Given the description of an element on the screen output the (x, y) to click on. 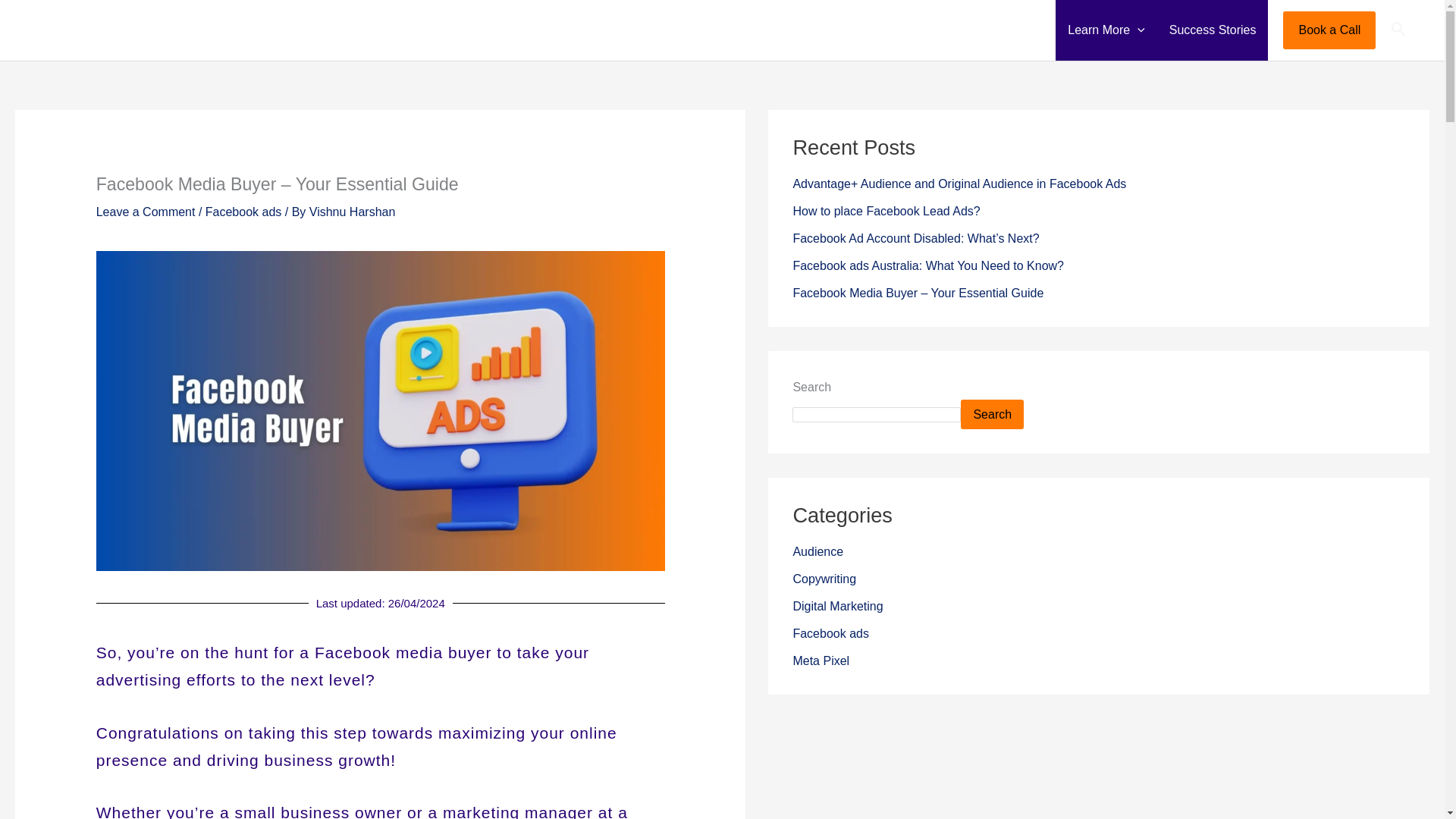
Vishnu Harshan (352, 211)
Book a Call (1328, 30)
Facebook ads (243, 211)
Learn More (1105, 30)
Leave a Comment (145, 211)
Success Stories (1212, 30)
View all posts by Vishnu Harshan (352, 211)
